Given the description of an element on the screen output the (x, y) to click on. 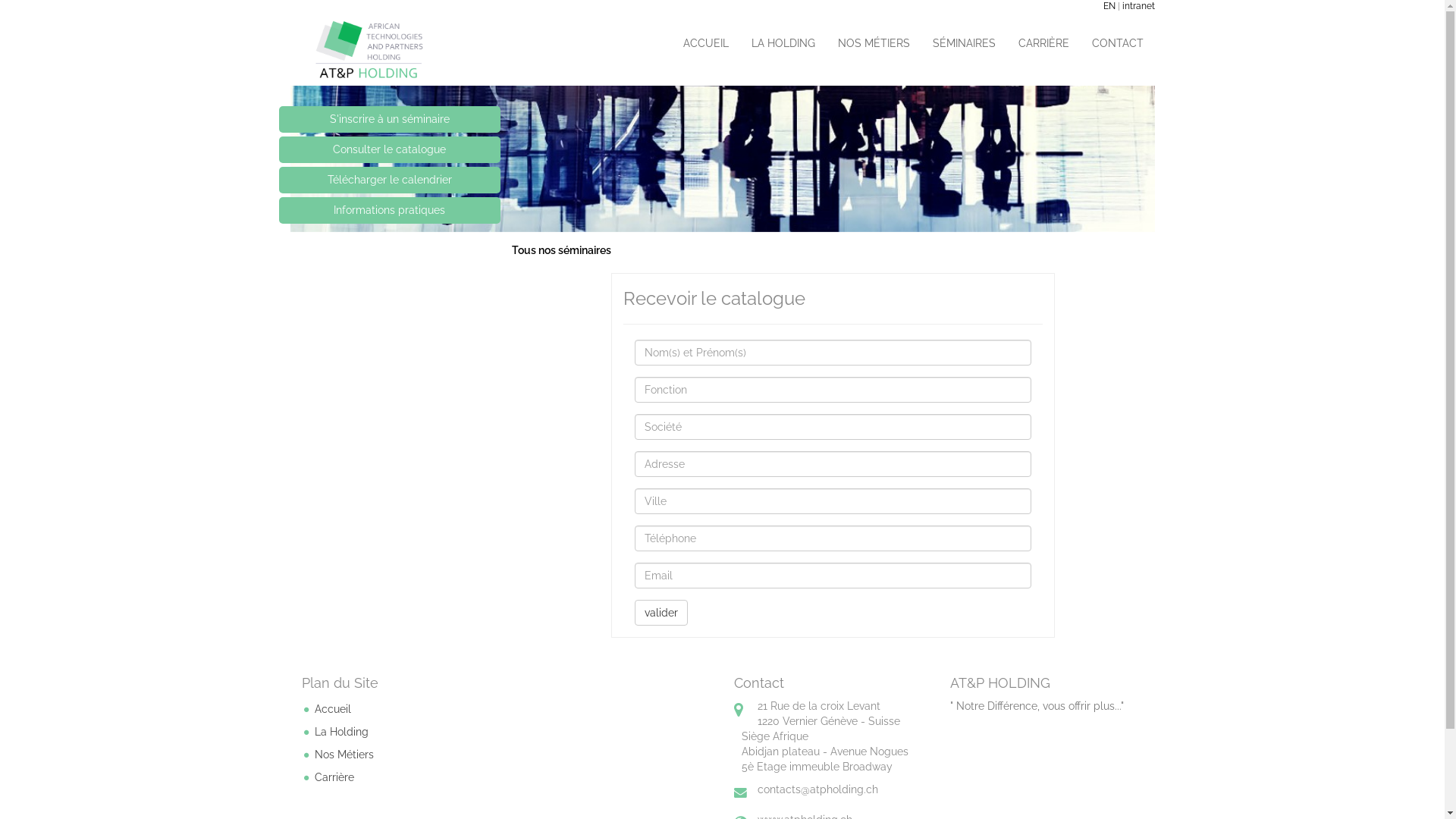
valider Element type: text (660, 612)
Accueil Element type: text (331, 708)
Informations pratiques Element type: text (389, 209)
La Holding Element type: text (340, 731)
intranet Element type: text (1138, 5)
EN Element type: text (1108, 5)
LA HOLDING Element type: text (783, 42)
CONTACT Element type: text (1116, 42)
Consulter le catalogue Element type: text (388, 149)
ACCUEIL Element type: text (705, 42)
